Given the description of an element on the screen output the (x, y) to click on. 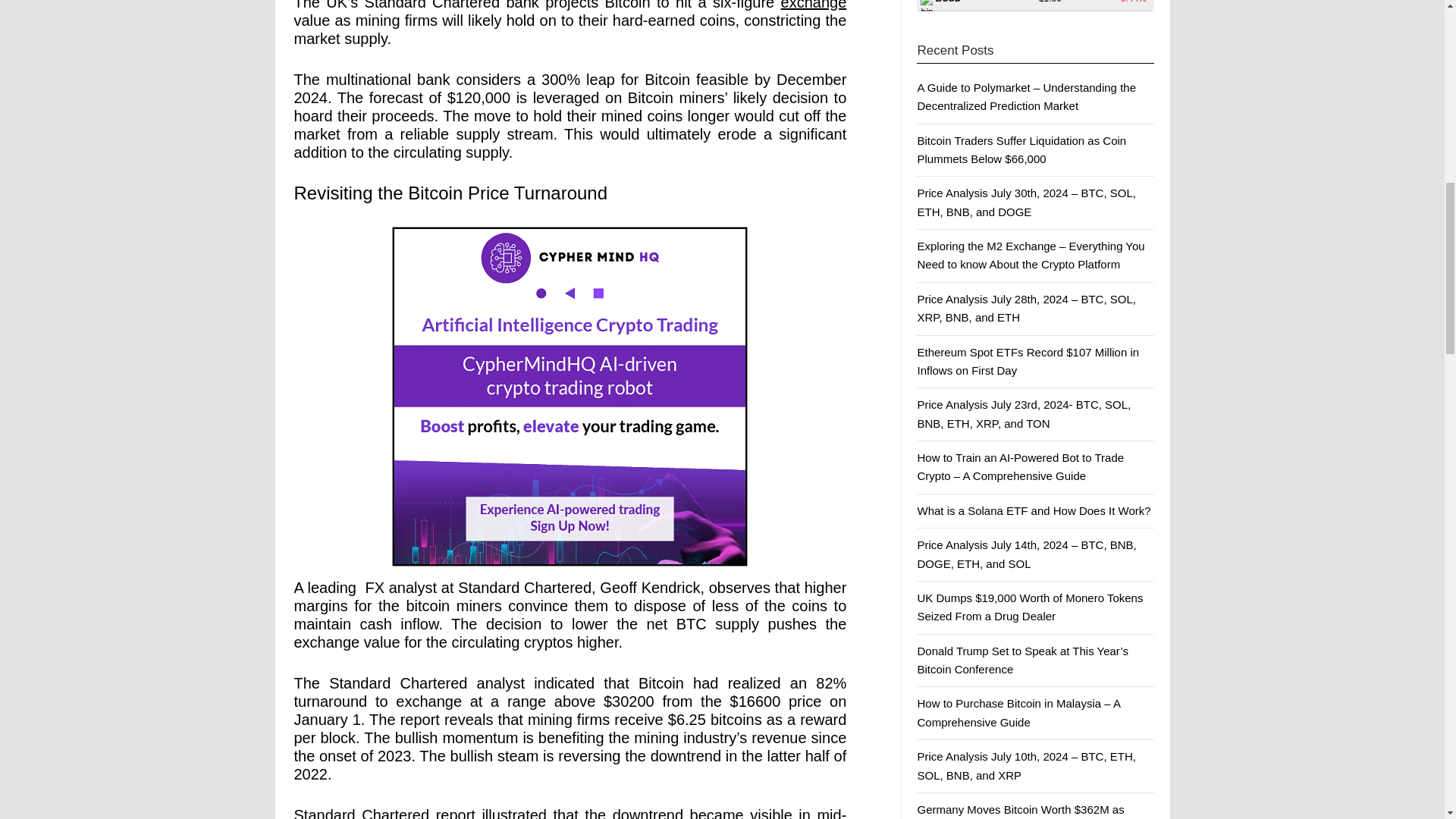
exchange (813, 5)
AI Trading (569, 396)
cryptocurrency exchange (813, 5)
What is a Solana ETF and How Does It Work? (1033, 510)
